Given the description of an element on the screen output the (x, y) to click on. 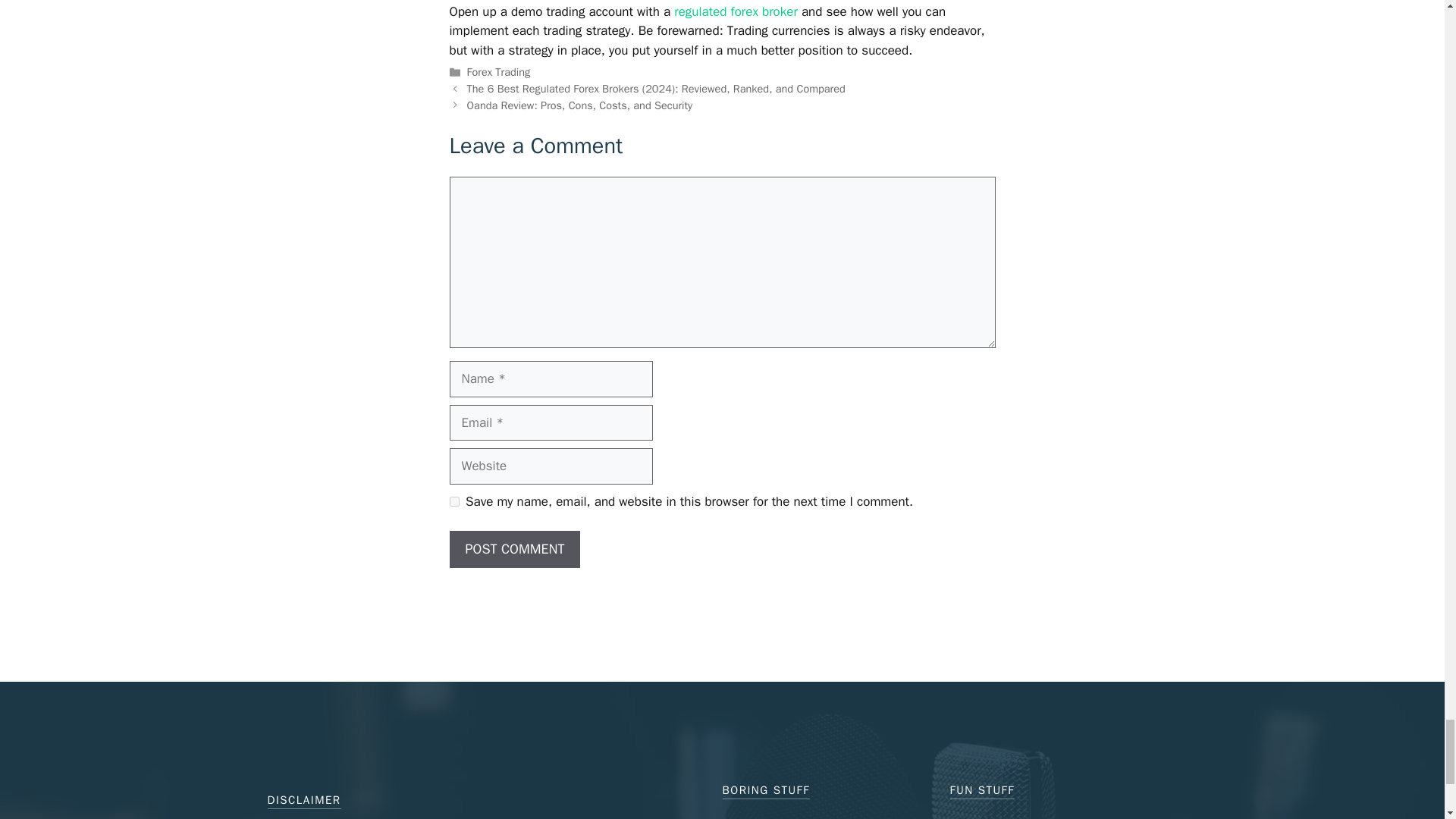
Post Comment (513, 549)
yes (453, 501)
